Given the description of an element on the screen output the (x, y) to click on. 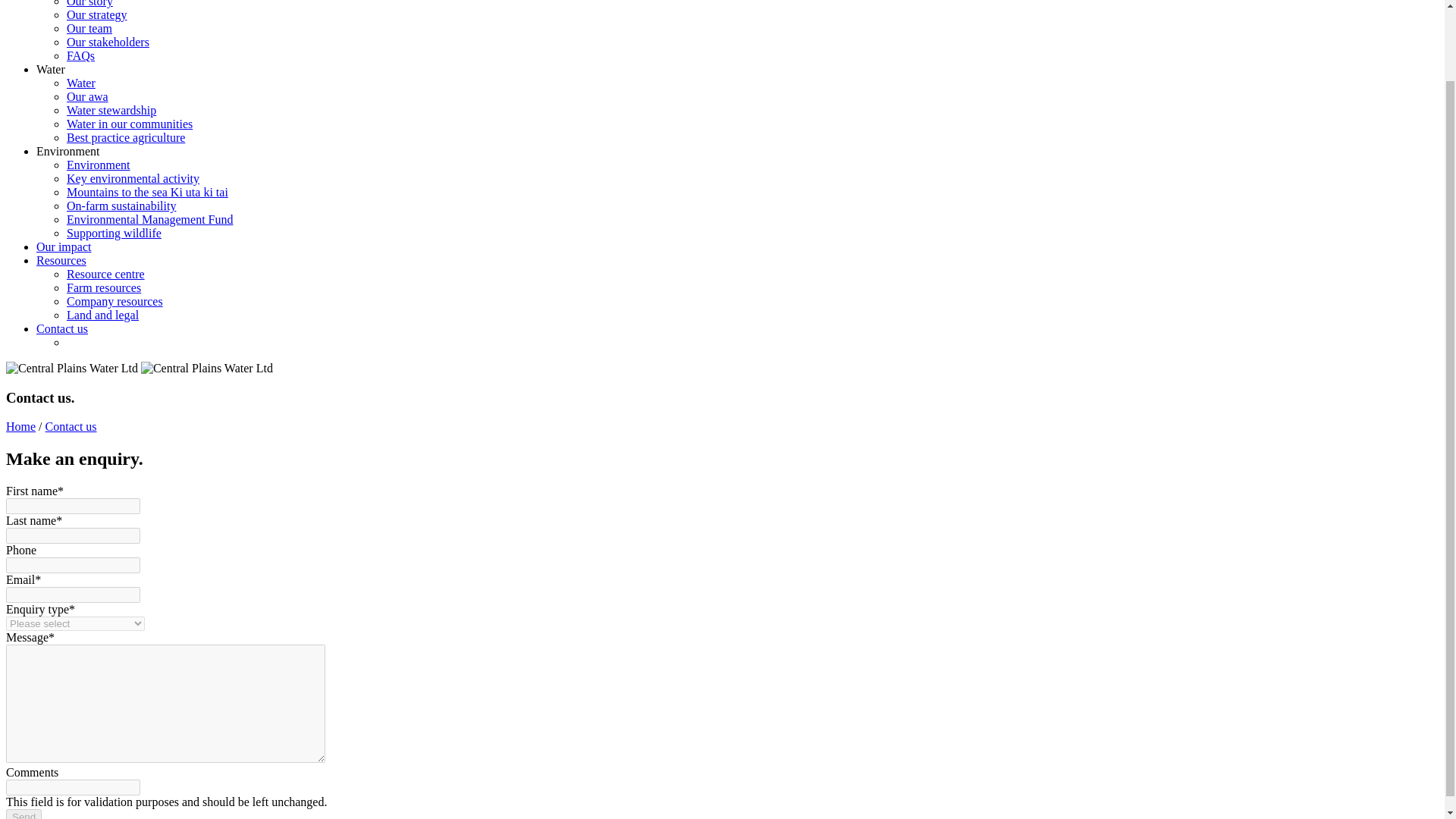
Environment (68, 151)
Resources (60, 259)
Our story (89, 3)
Key environmental activity (132, 178)
Home (19, 426)
Our awa (86, 96)
Resource centre (105, 273)
Our team (89, 28)
Water stewardship (110, 110)
FAQs (80, 55)
